Given the description of an element on the screen output the (x, y) to click on. 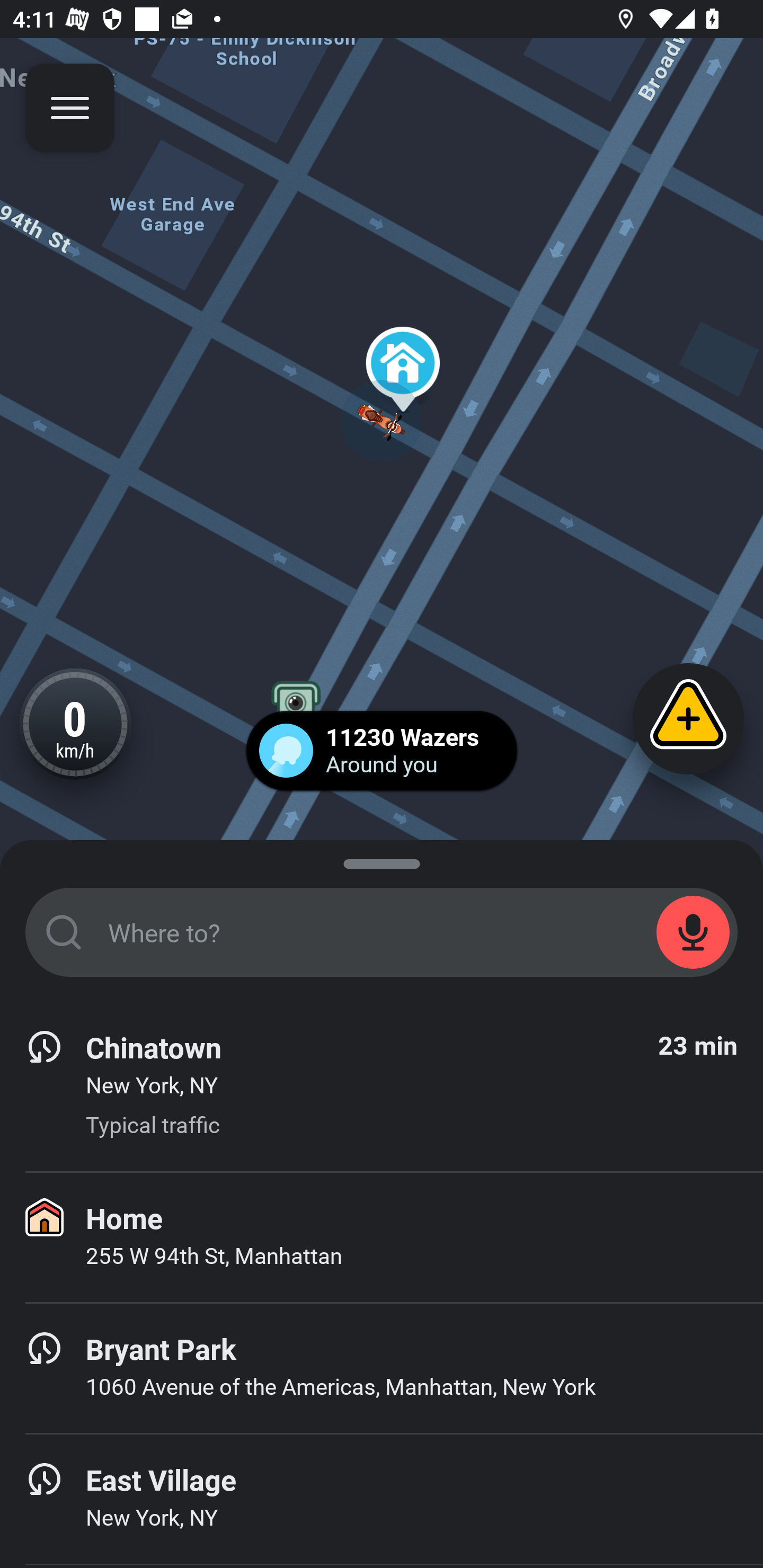
SUGGESTIONS_SHEET_DRAG_HANDLE (381, 860)
START_STATE_SEARCH_FIELD Where to? (381, 931)
Chinatown 23 min New York, NY Typical traffic (381, 1086)
Home 255 W 94th St, Manhattan (381, 1236)
East Village New York, NY (381, 1498)
